Given the description of an element on the screen output the (x, y) to click on. 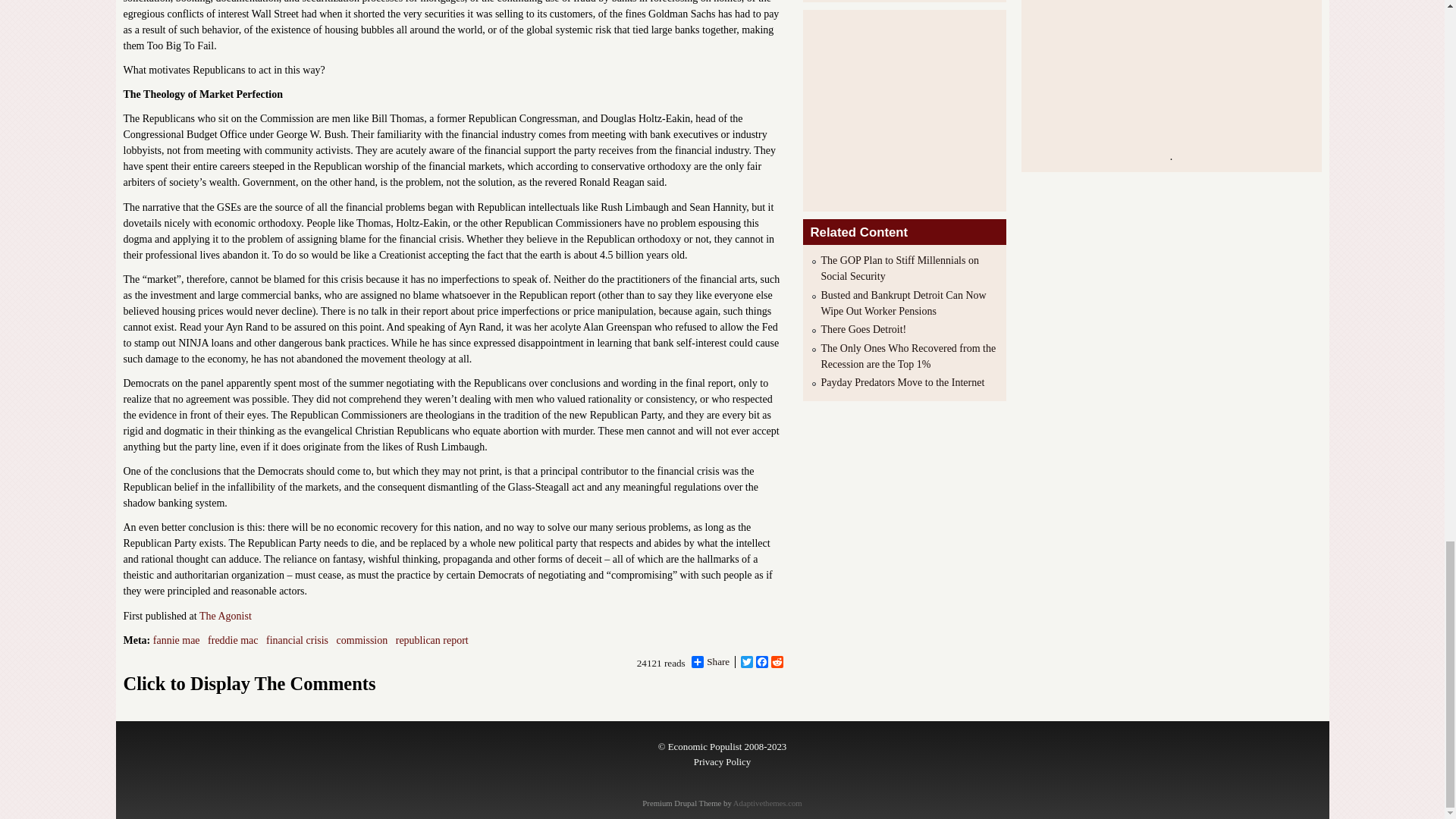
Reddit (777, 662)
Twitter (746, 662)
financial crisis (297, 640)
Facebook (762, 662)
The Agonist (225, 615)
republican report (432, 640)
Share (710, 662)
freddie mac (232, 640)
fannie mae (176, 640)
commission (362, 640)
